Given the description of an element on the screen output the (x, y) to click on. 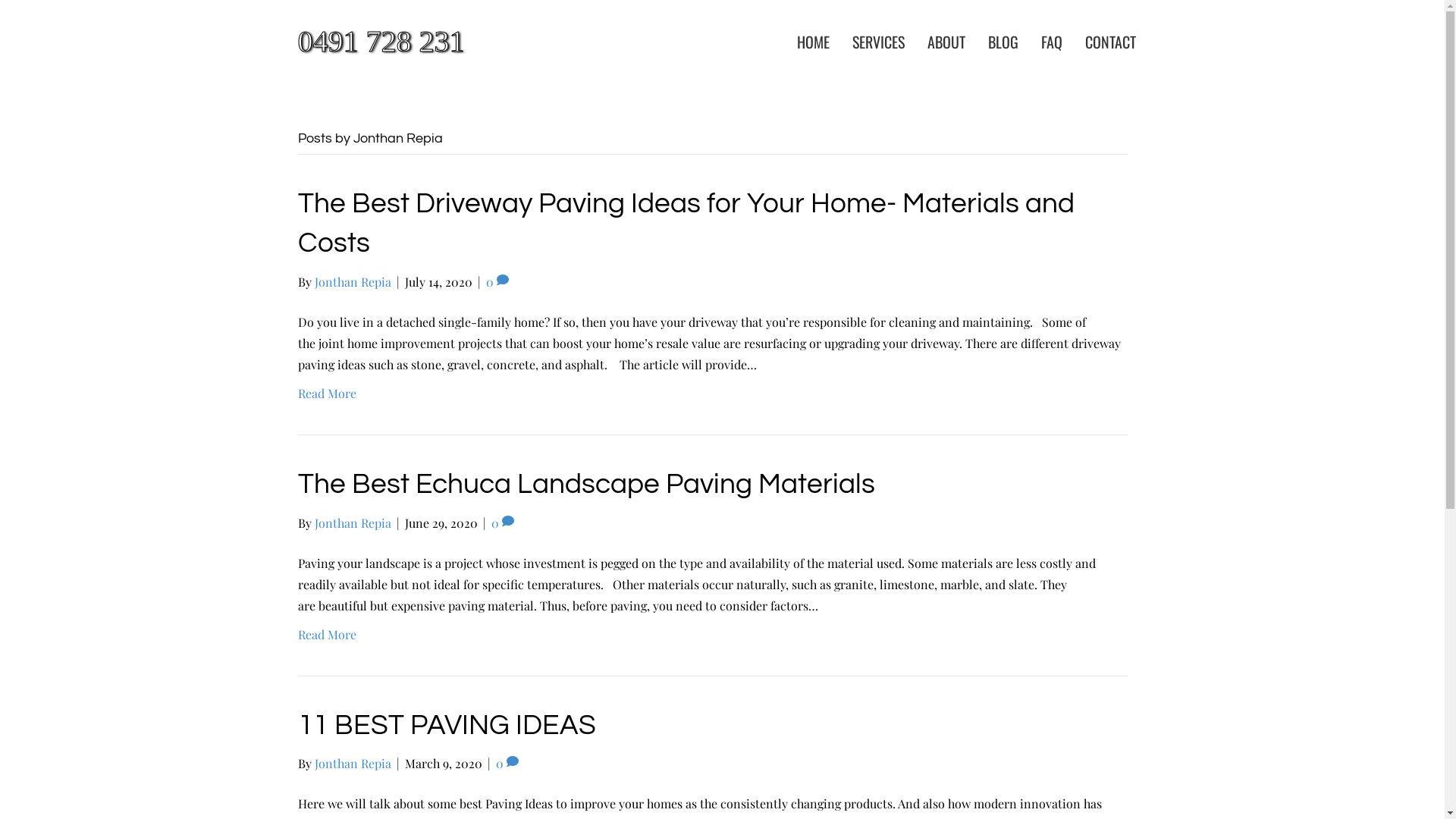
0 Element type: text (496, 281)
ABOUT Element type: text (946, 41)
The Best Echuca Landscape Paving Materials Element type: text (585, 484)
Read More Element type: text (326, 393)
FAQ Element type: text (1051, 41)
0491 728 231 Element type: text (397, 41)
Read More Element type: text (326, 634)
BLOG Element type: text (1002, 41)
CONTACT Element type: text (1110, 41)
Jonthan Repia Element type: text (351, 522)
Jonthan Repia Element type: text (351, 281)
0 Element type: text (502, 522)
HOME Element type: text (812, 41)
SERVICES Element type: text (877, 41)
11 BEST PAVING IDEAS Element type: text (446, 725)
0 Element type: text (506, 763)
Jonthan Repia Element type: text (351, 763)
